Given the description of an element on the screen output the (x, y) to click on. 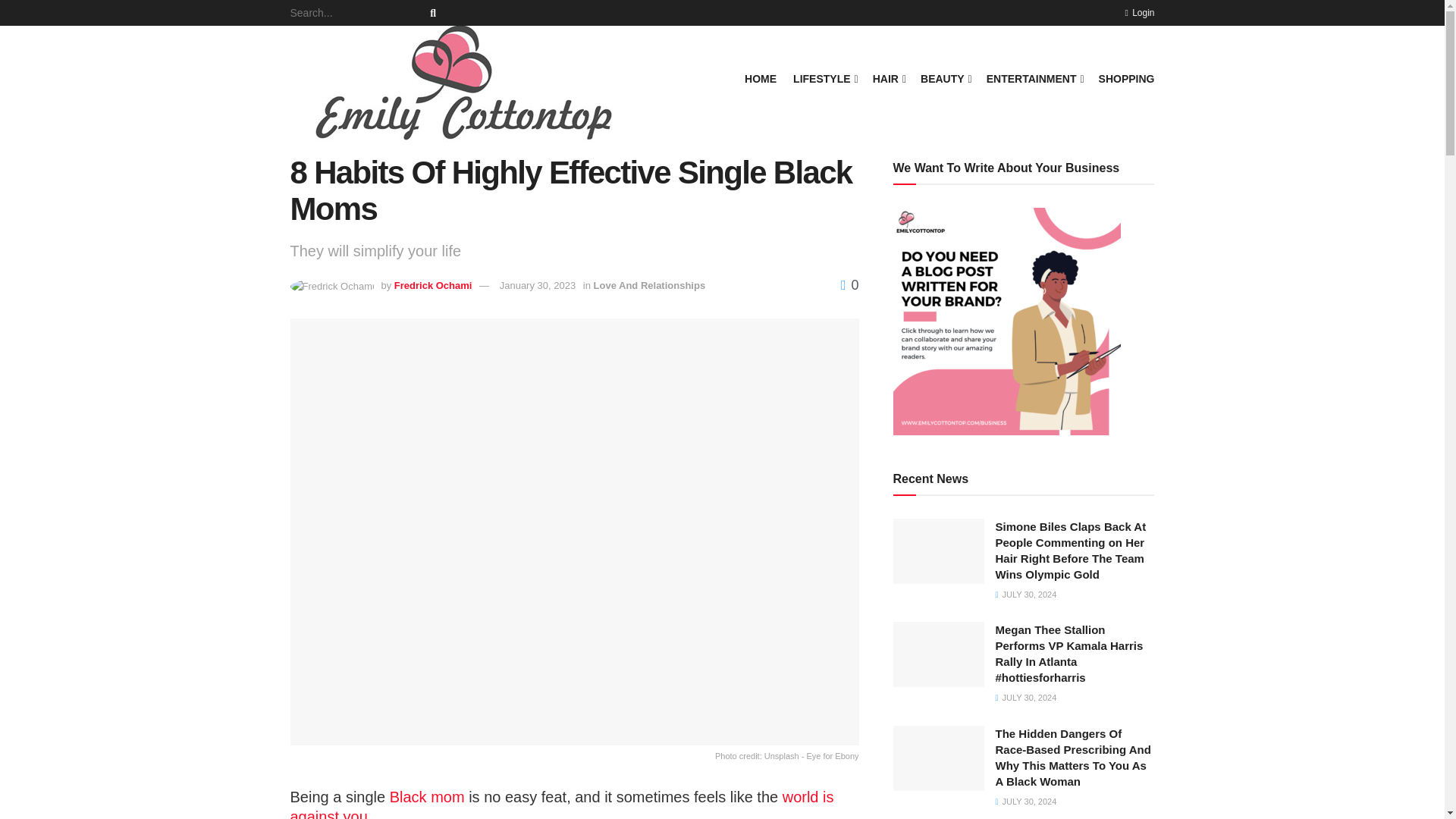
BEAUTY (944, 78)
Login (1139, 12)
LIFESTYLE (824, 78)
ENTERTAINMENT (1034, 78)
SHOPPING (1126, 78)
HOME (760, 78)
HAIR (888, 78)
